Given the description of an element on the screen output the (x, y) to click on. 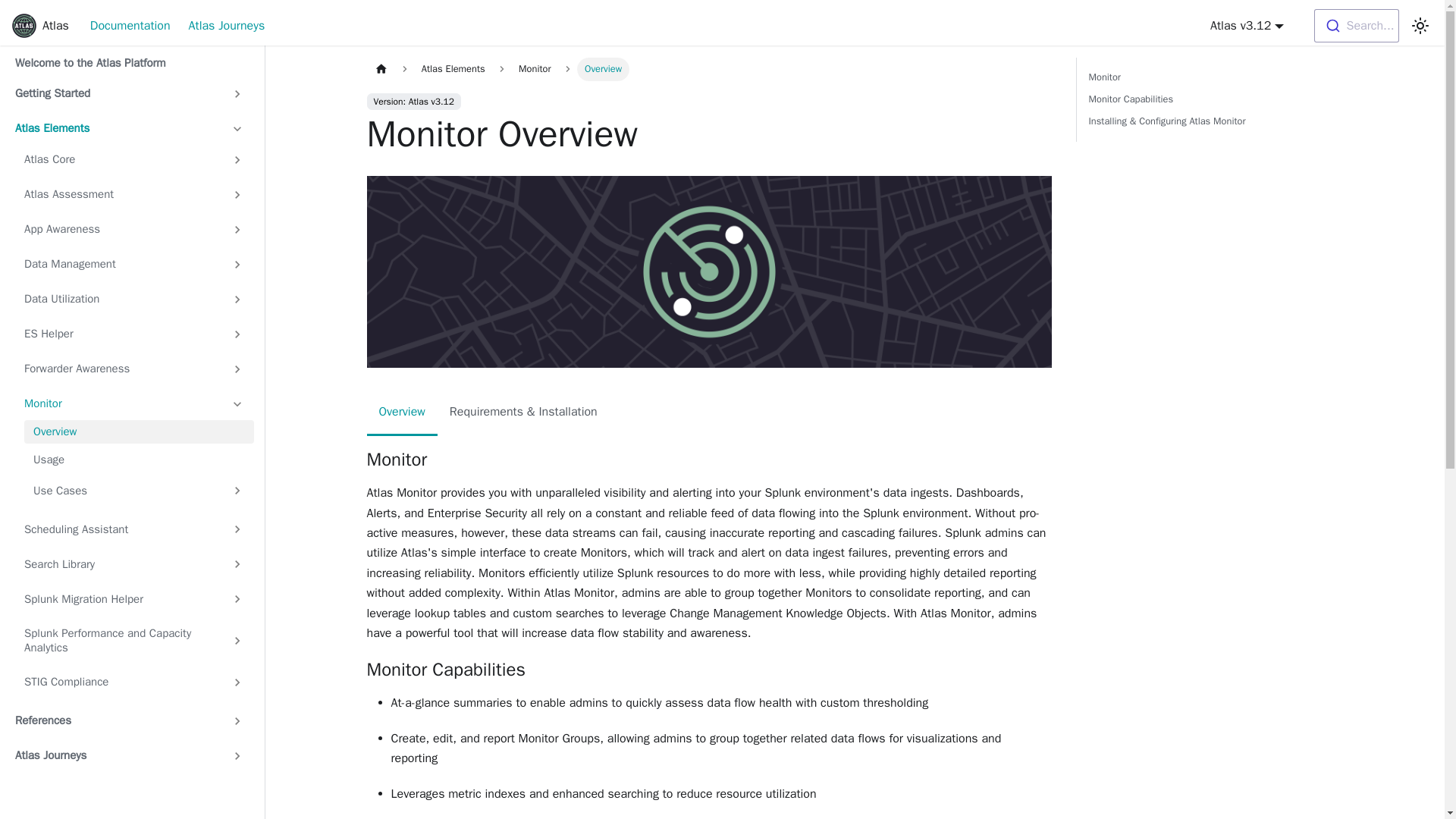
STIG Compliance (133, 682)
App Awareness (133, 229)
Atlas Core (133, 159)
Getting Started (129, 93)
Welcome to the Atlas Platform (129, 63)
Atlas Journeys (227, 25)
Forwarder Awareness (133, 369)
Atlas v3.12 (1246, 25)
References (129, 721)
Splunk Performance and Capacity Analytics (133, 640)
Atlas (39, 25)
Atlas Assessment (133, 194)
Data Management (133, 264)
Splunk Migration Helper (133, 598)
Use Cases (138, 490)
